Given the description of an element on the screen output the (x, y) to click on. 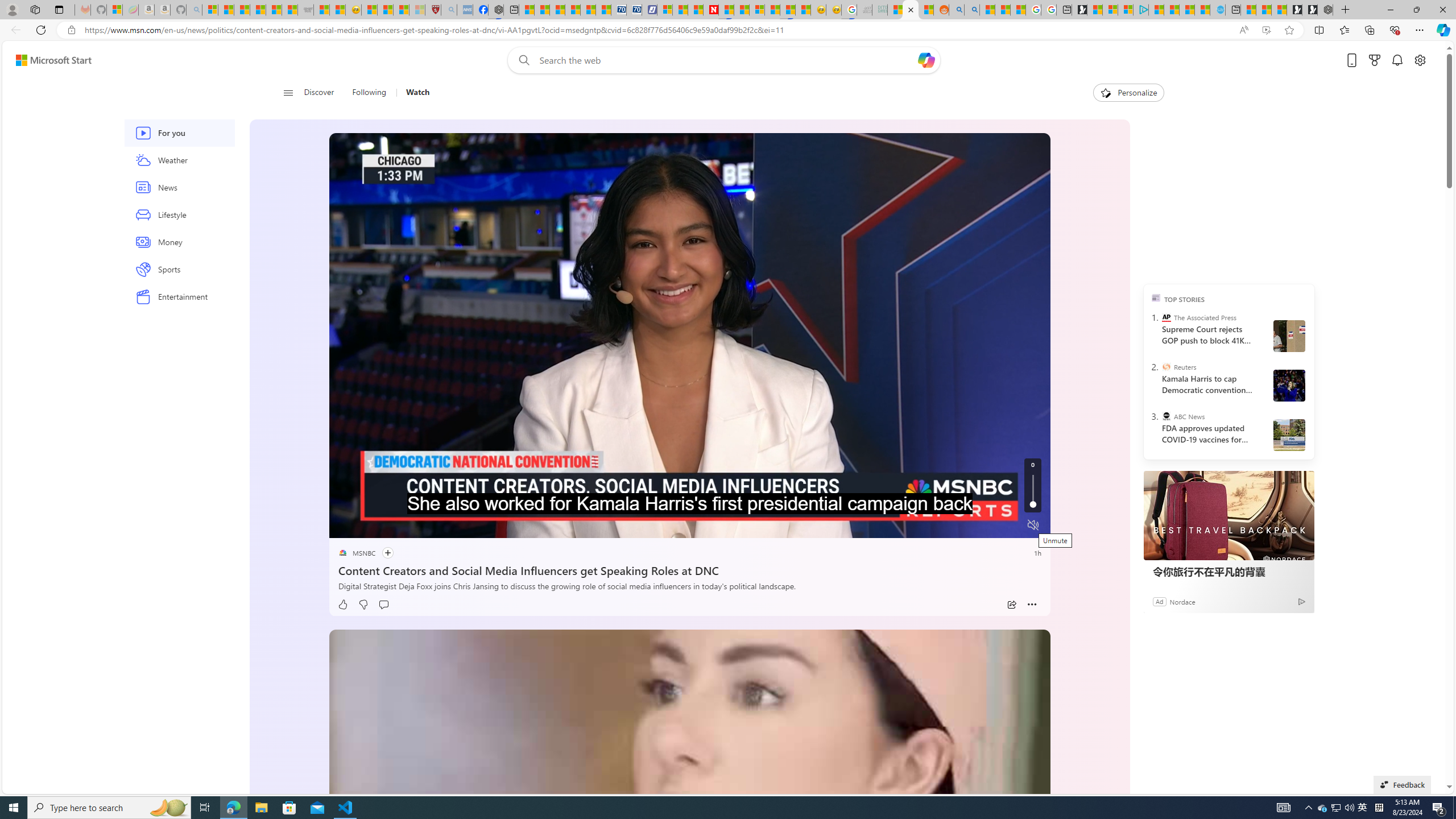
placeholder MSNBC (356, 552)
Personalize (1128, 92)
Progress Bar (689, 510)
